Given the description of an element on the screen output the (x, y) to click on. 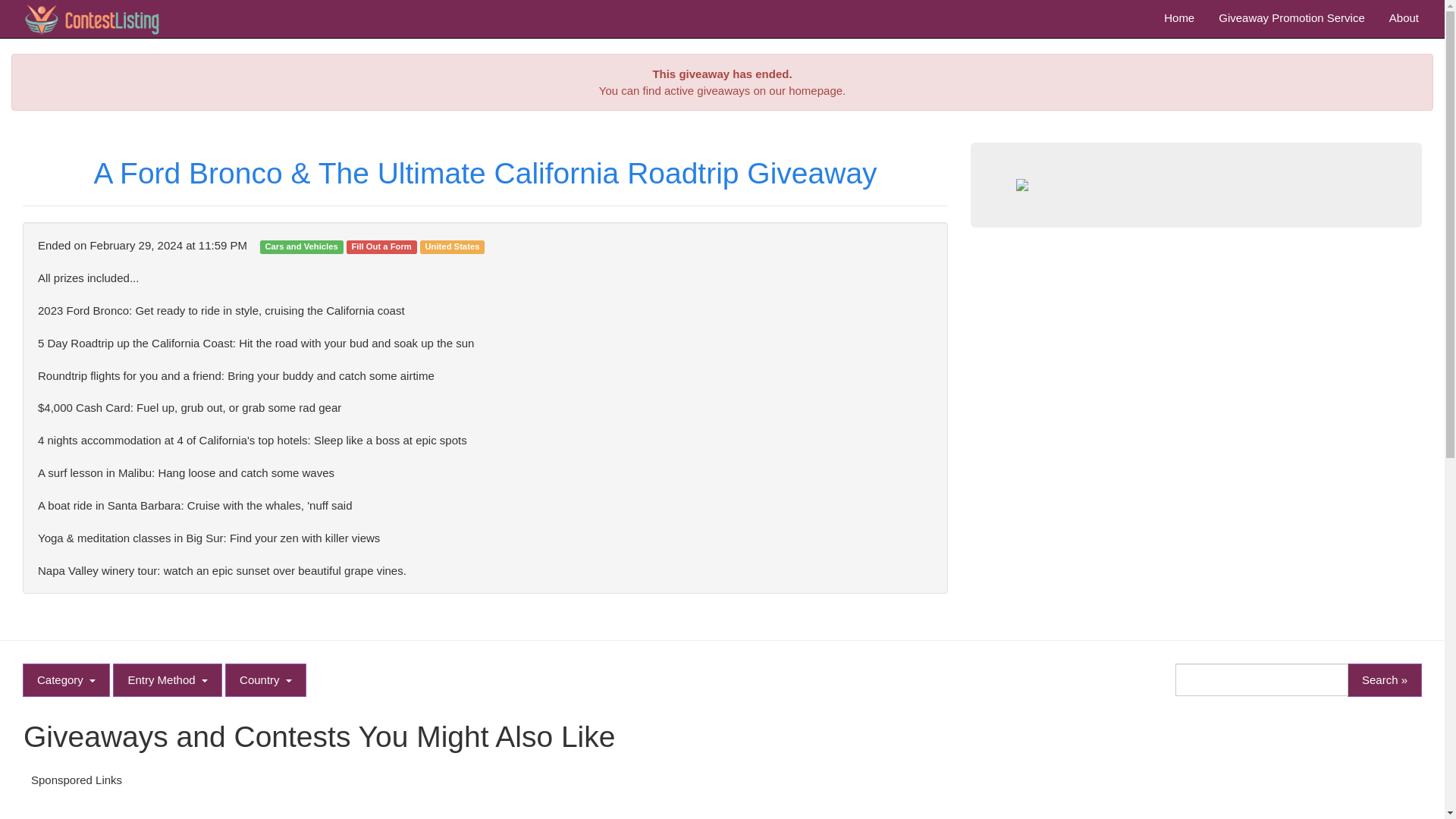
Giveaway Promotion Service (1292, 18)
Country   (265, 679)
Category   (66, 679)
Fill Out a Form (380, 245)
Cars and Vehicles (300, 245)
United States (452, 245)
Advertisement (721, 807)
Entry Method   (167, 679)
Home (1179, 18)
About (1404, 18)
